Given the description of an element on the screen output the (x, y) to click on. 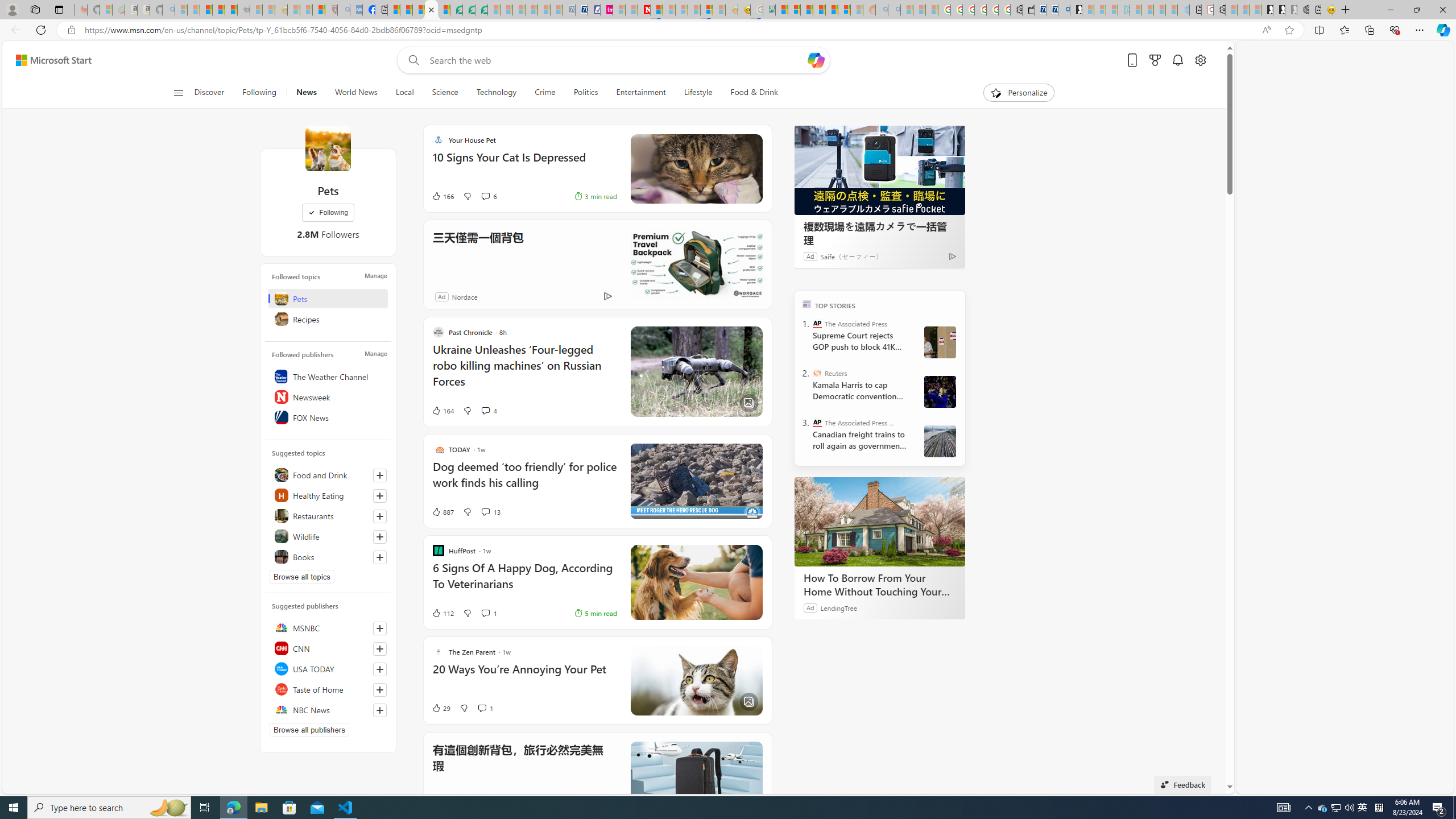
The Associated Press (816, 323)
The Weather Channel (327, 376)
The Associated Press - Business News (816, 422)
Follow this topic (379, 557)
